Given the description of an element on the screen output the (x, y) to click on. 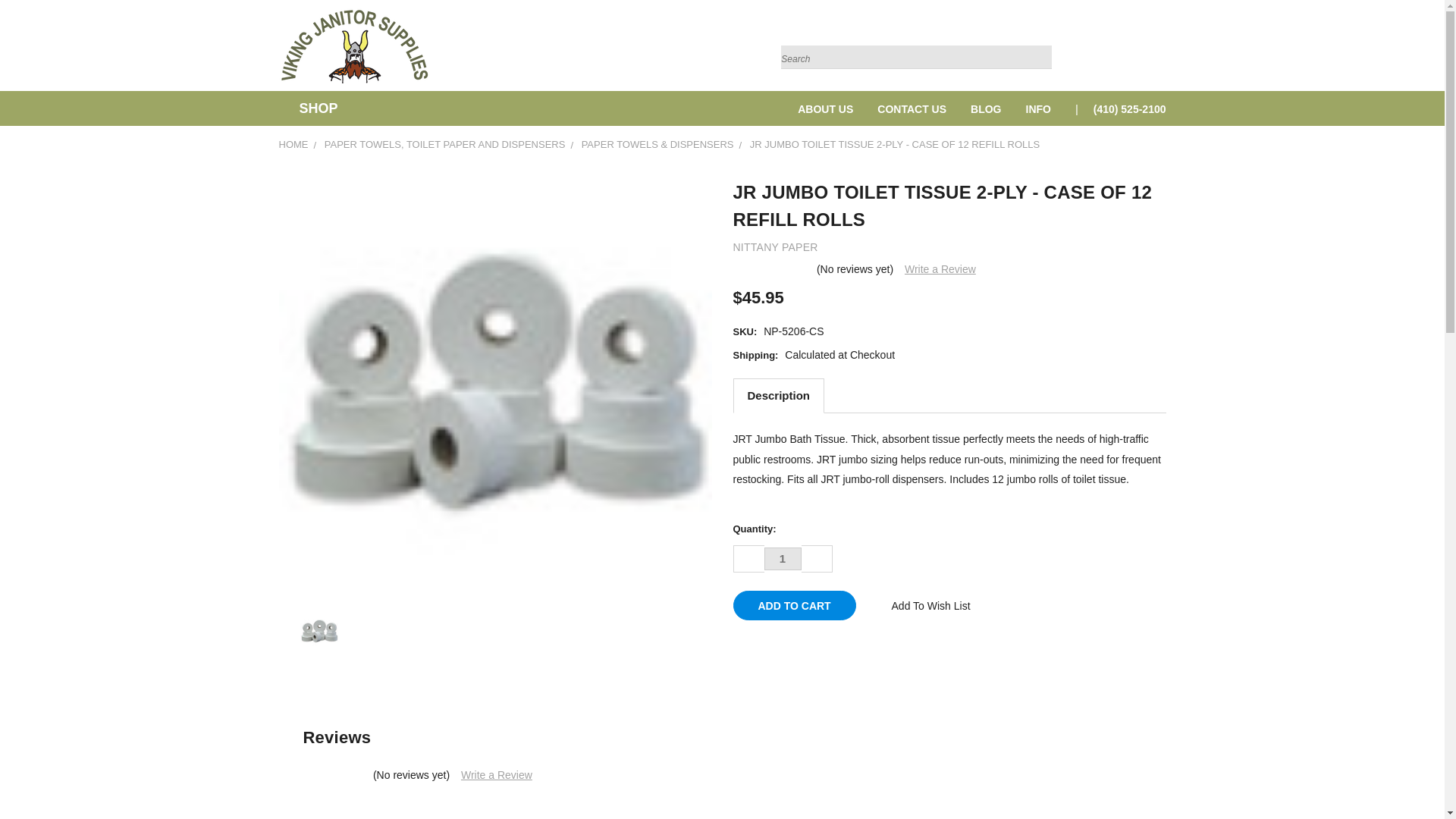
SHOP (314, 108)
Add to Cart (794, 605)
Viking Janitor Supplies (354, 45)
Submit Search (1039, 38)
User Toolbox (1135, 48)
1 (783, 558)
